Given the description of an element on the screen output the (x, y) to click on. 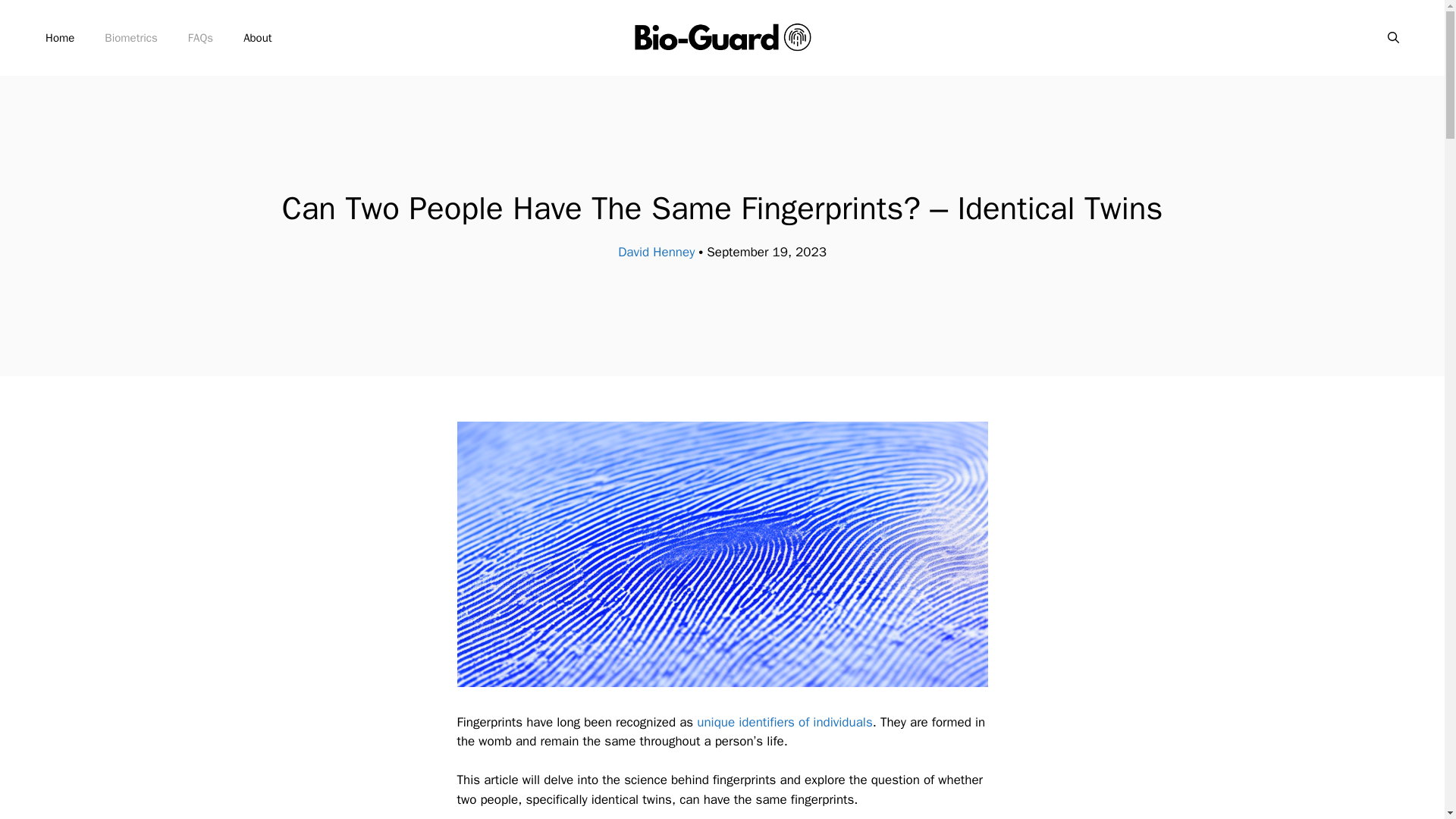
Biometrics (130, 37)
David Henney (655, 252)
FAQs (200, 37)
unique identifiers of individuals (782, 722)
About (257, 37)
Home (59, 37)
